Given the description of an element on the screen output the (x, y) to click on. 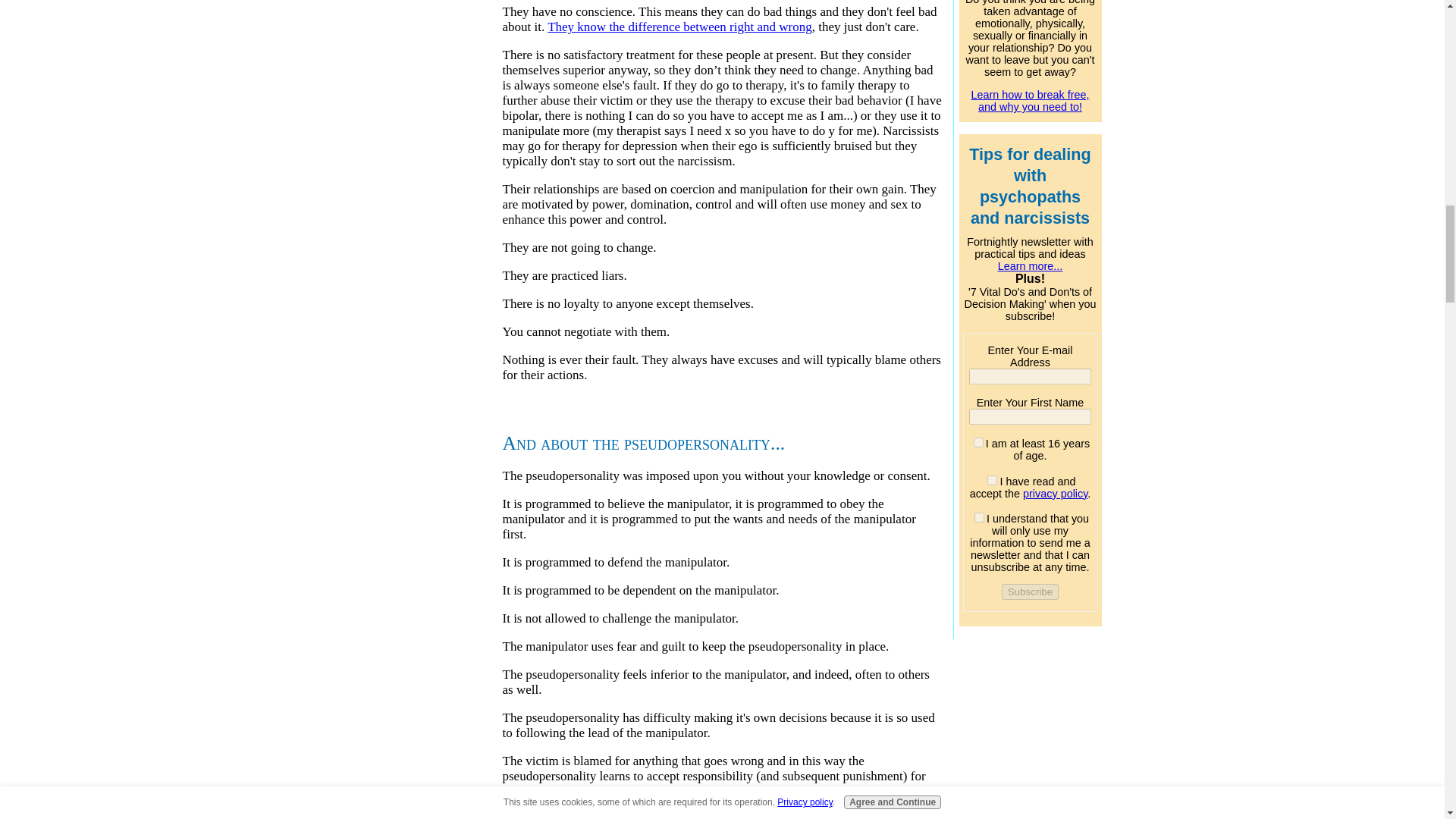
on (992, 480)
on (979, 442)
on (979, 517)
